Given the description of an element on the screen output the (x, y) to click on. 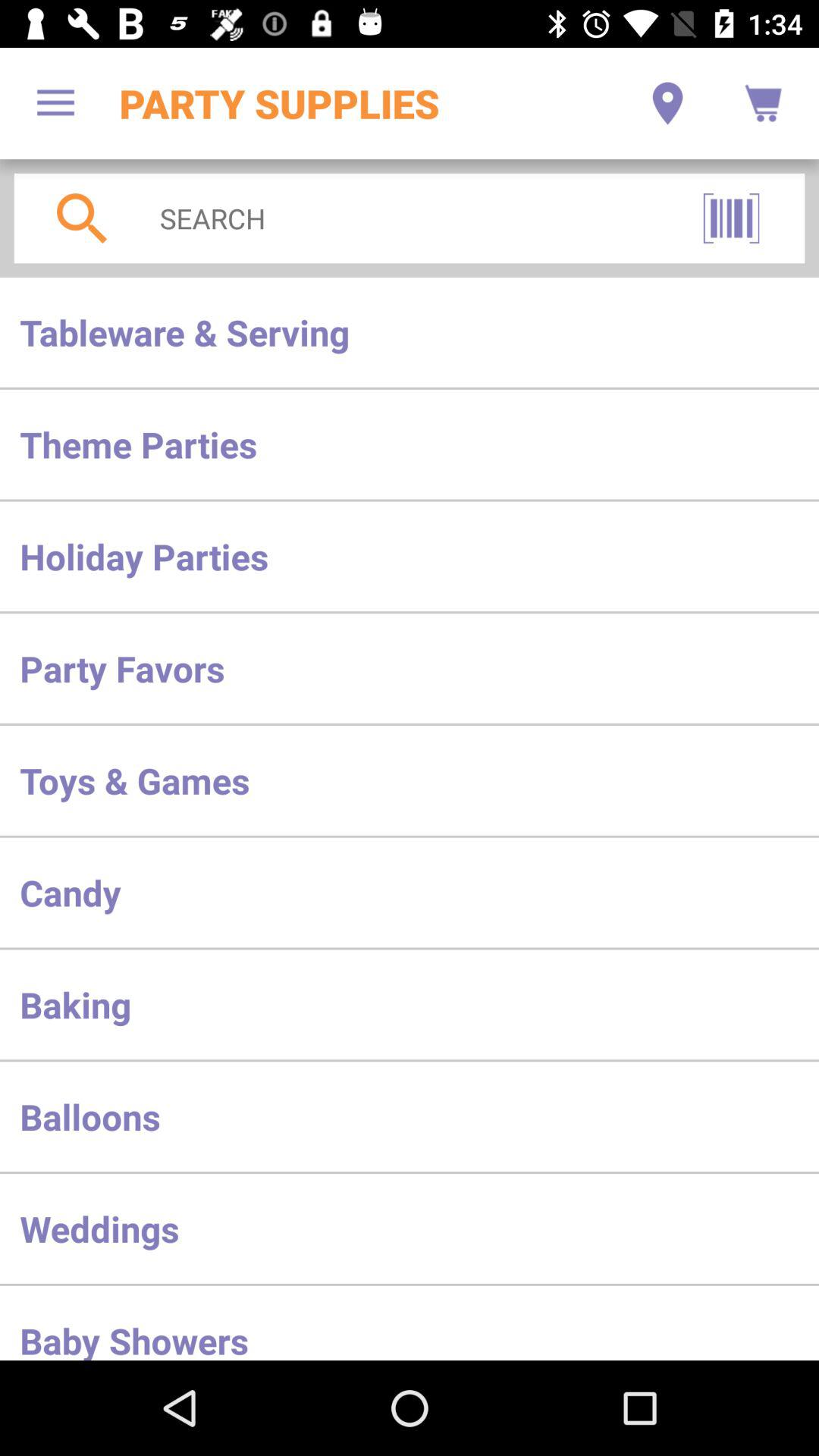
select the app to the left of the party supplies app (55, 103)
